Given the description of an element on the screen output the (x, y) to click on. 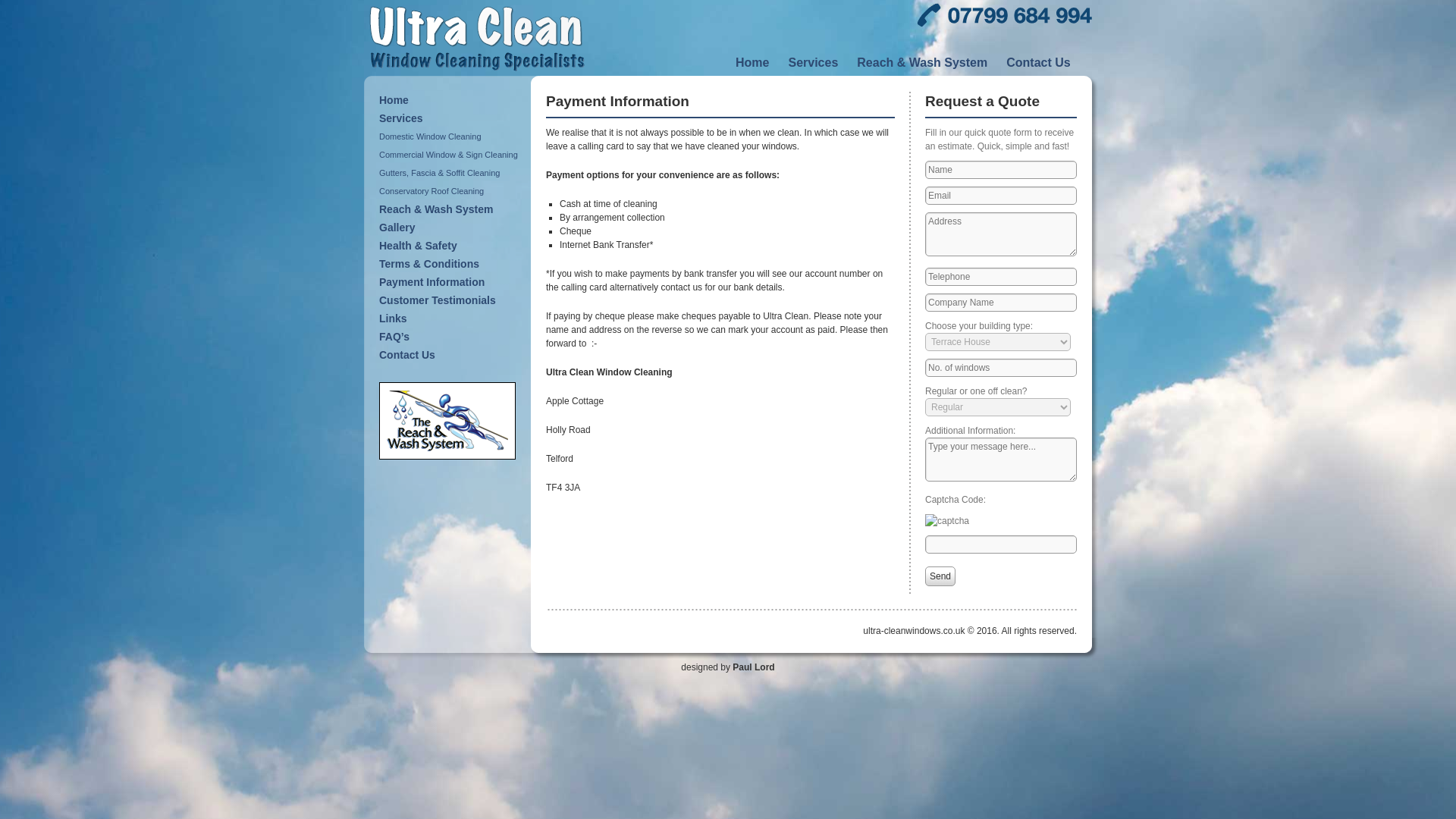
Contact Us (450, 354)
Conservatory Roof Cleaning (450, 190)
Send (939, 575)
Services (450, 117)
Customer Testimonials (450, 300)
Home (450, 99)
Contact Us (1043, 62)
Payment Information (450, 281)
Services (817, 62)
Send (939, 575)
Home (757, 62)
Gallery (450, 227)
Links (450, 318)
Paul Lord (753, 665)
